Given the description of an element on the screen output the (x, y) to click on. 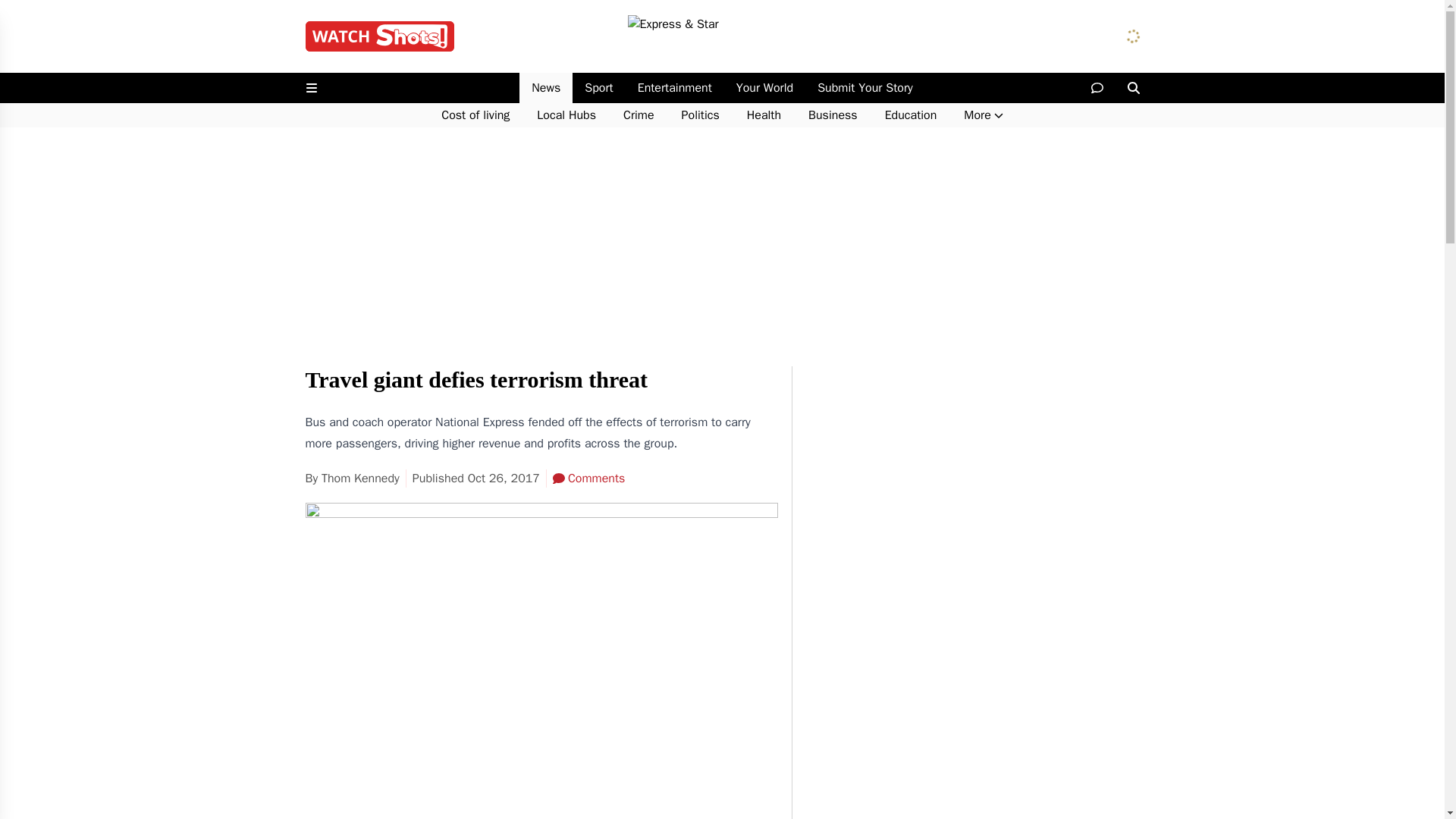
Entertainment (674, 87)
Local Hubs (566, 115)
Comments (588, 478)
Politics (700, 115)
Sport (598, 87)
News (545, 87)
Education (910, 115)
Crime (638, 115)
Health (764, 115)
Thom Kennedy (359, 478)
